Given the description of an element on the screen output the (x, y) to click on. 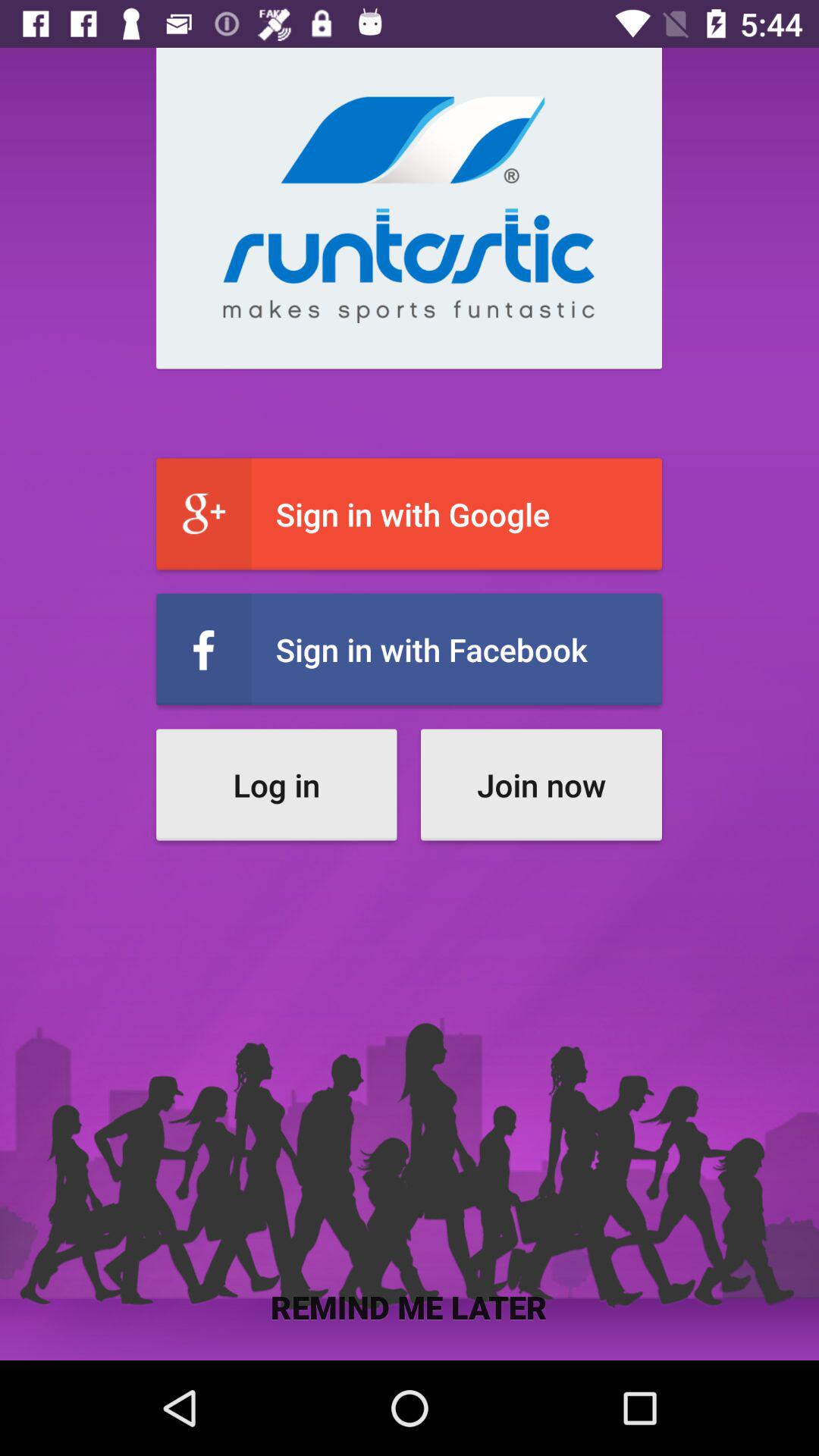
click the icon below the sign in with (541, 784)
